Given the description of an element on the screen output the (x, y) to click on. 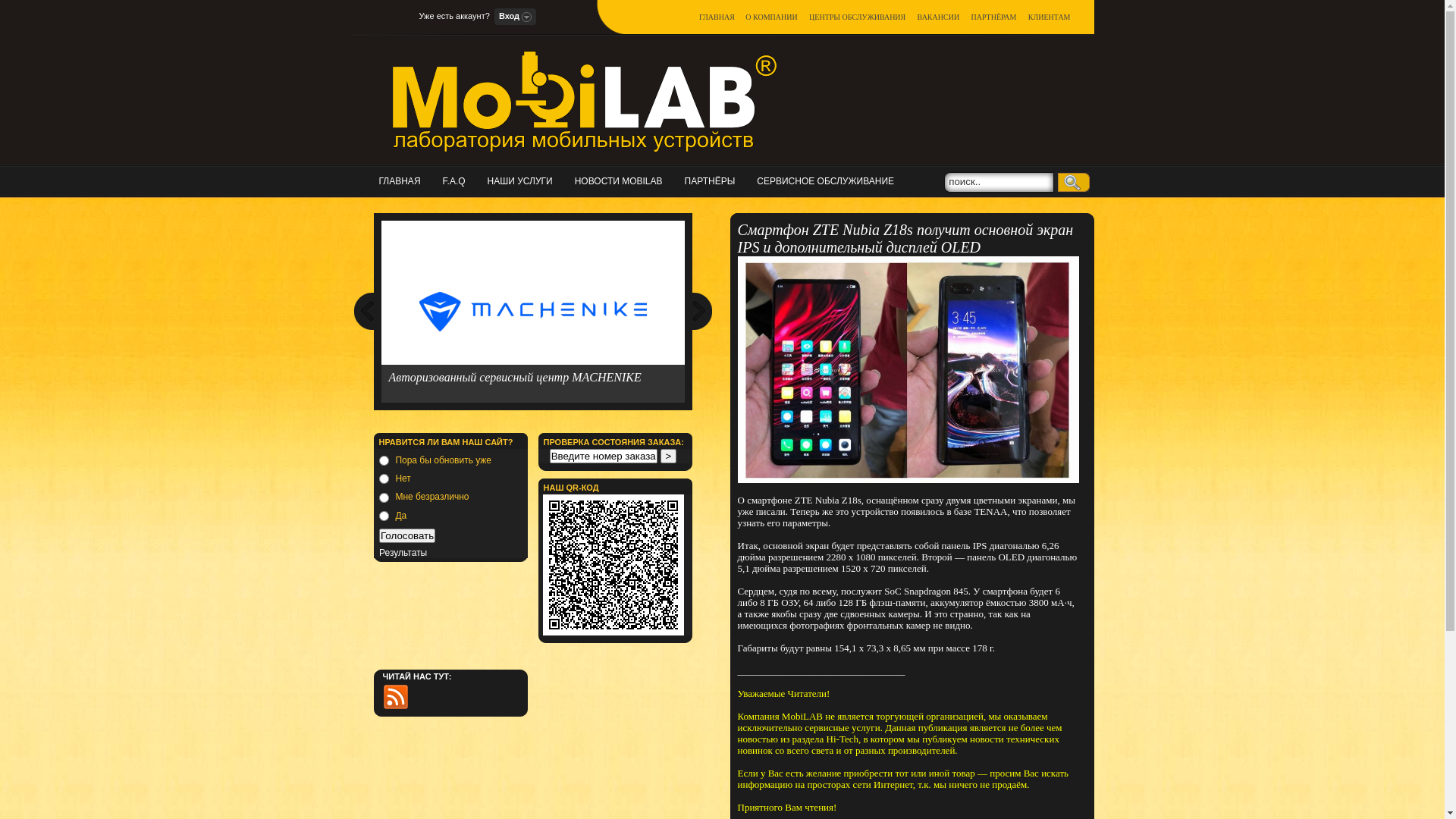
F.A.Q Element type: text (458, 180)
